Given the description of an element on the screen output the (x, y) to click on. 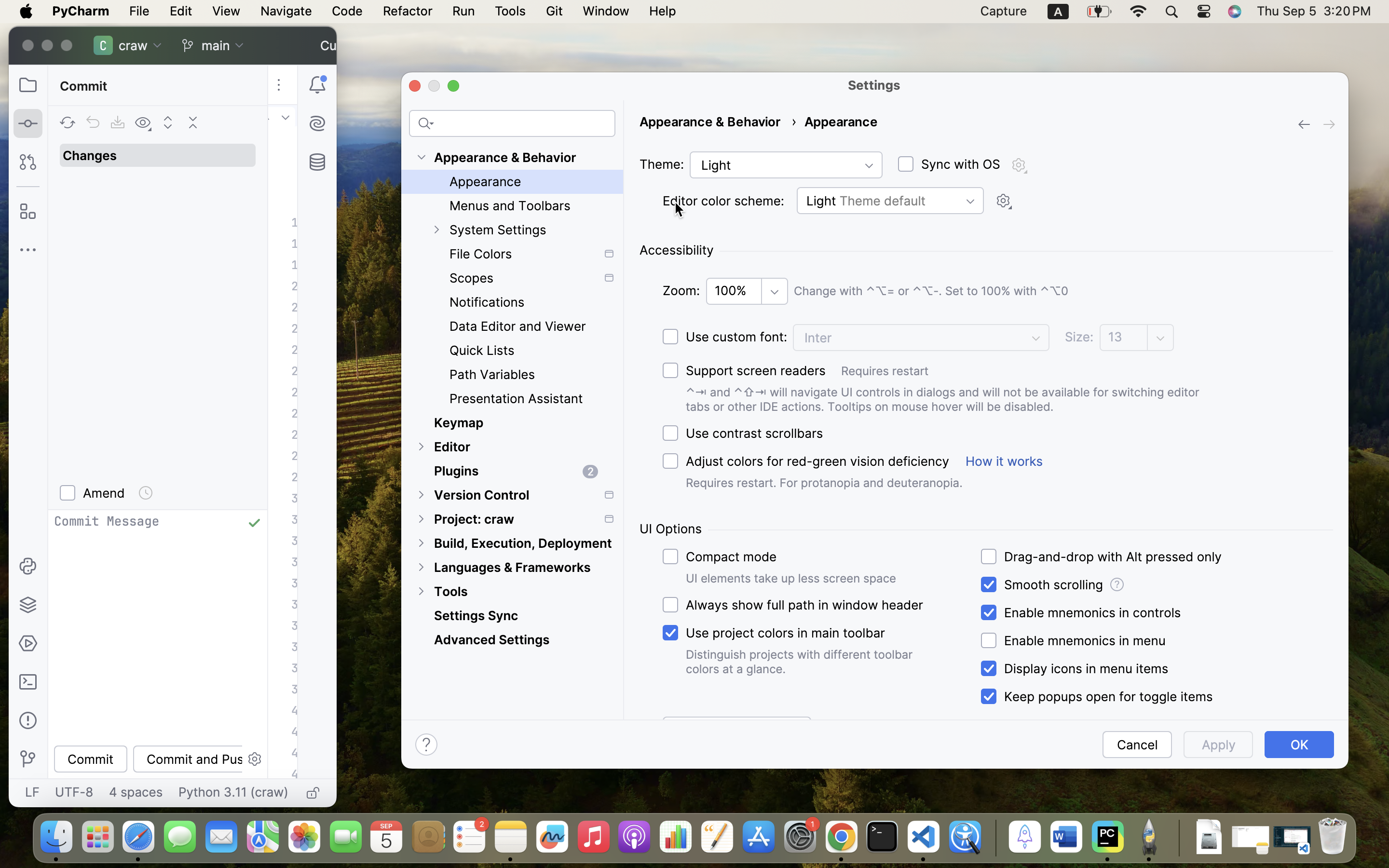
Editor color scheme: Element type: AXStaticText (723, 200)
Settings Element type: AXStaticText (873, 84)
13 Element type: AXTextField (1124, 336)
Zoom: Element type: AXStaticText (681, 290)
Inter Element type: AXPopUpButton (920, 337)
